Given the description of an element on the screen output the (x, y) to click on. 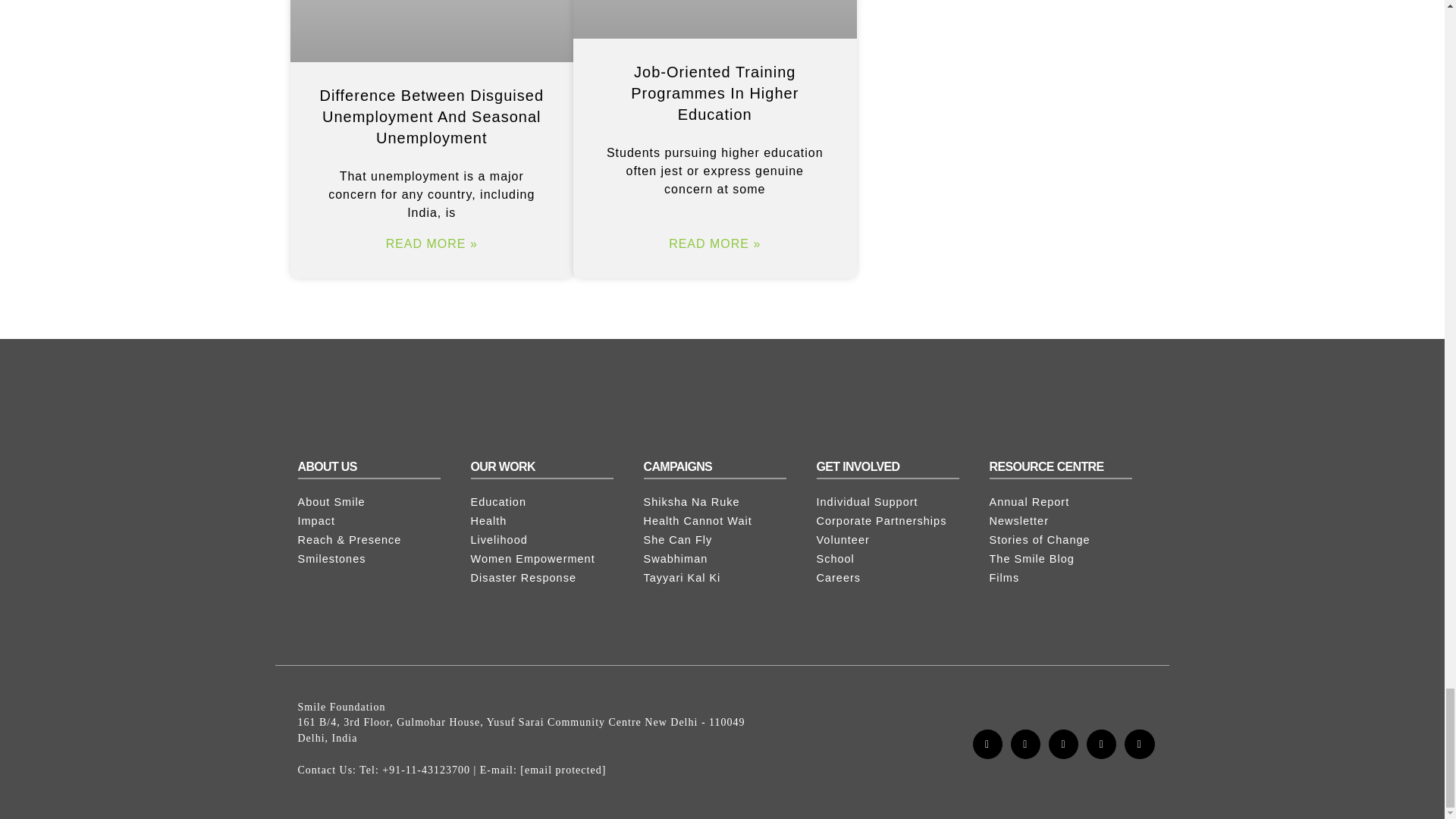
Click to Call (425, 769)
